Given the description of an element on the screen output the (x, y) to click on. 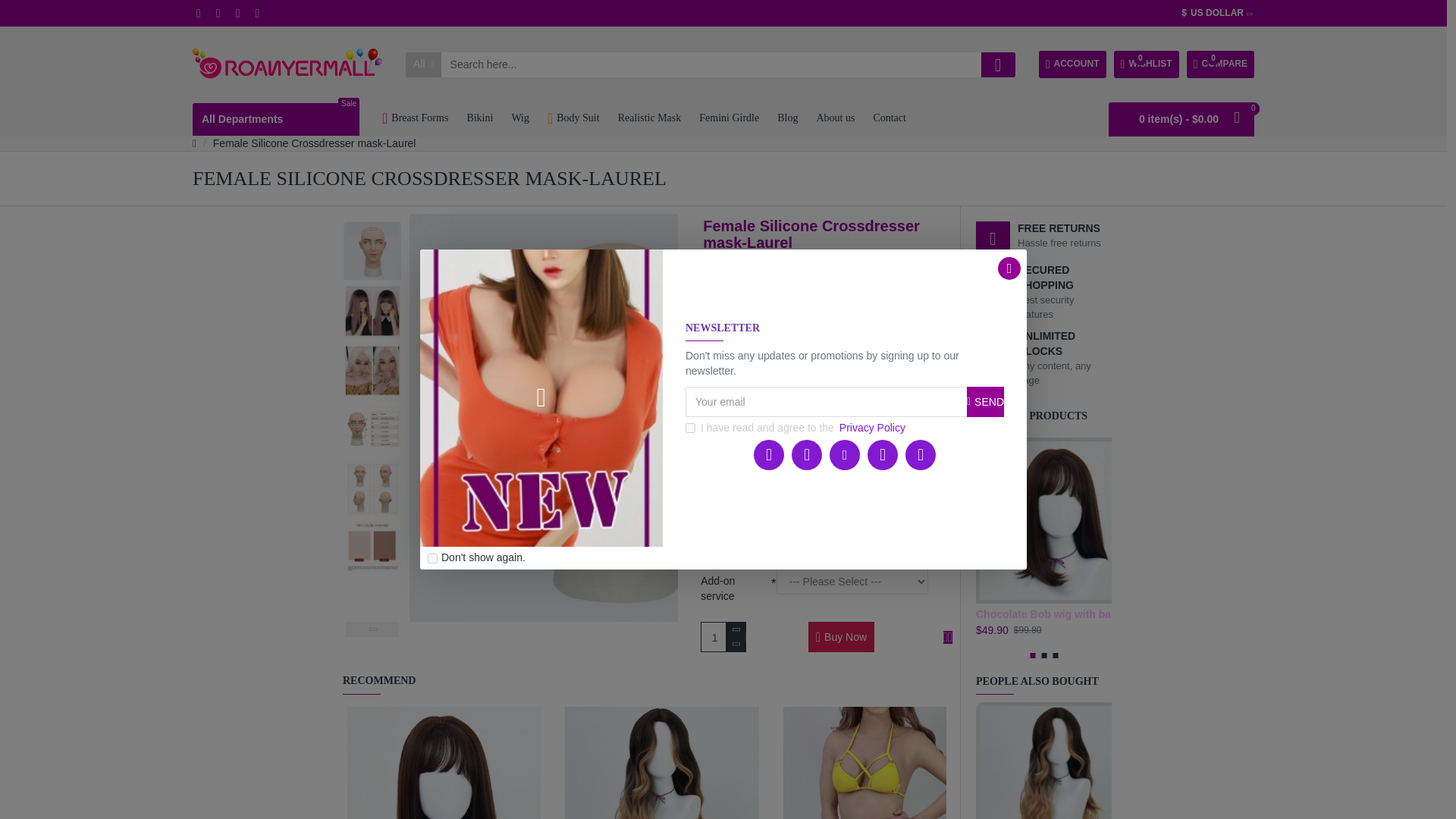
ACCOUNT (1072, 63)
Female Silicone Crossdresser mask-Laurel (371, 487)
Bikini (479, 119)
1 (723, 636)
Female Silicone Crossdresser mask-Laurel (371, 250)
Privacy Policy (872, 427)
Breast Forms (1219, 63)
Female Silicone Crossdresser mask-Laurel (408, 119)
www.roanyermall.com (371, 309)
